Given the description of an element on the screen output the (x, y) to click on. 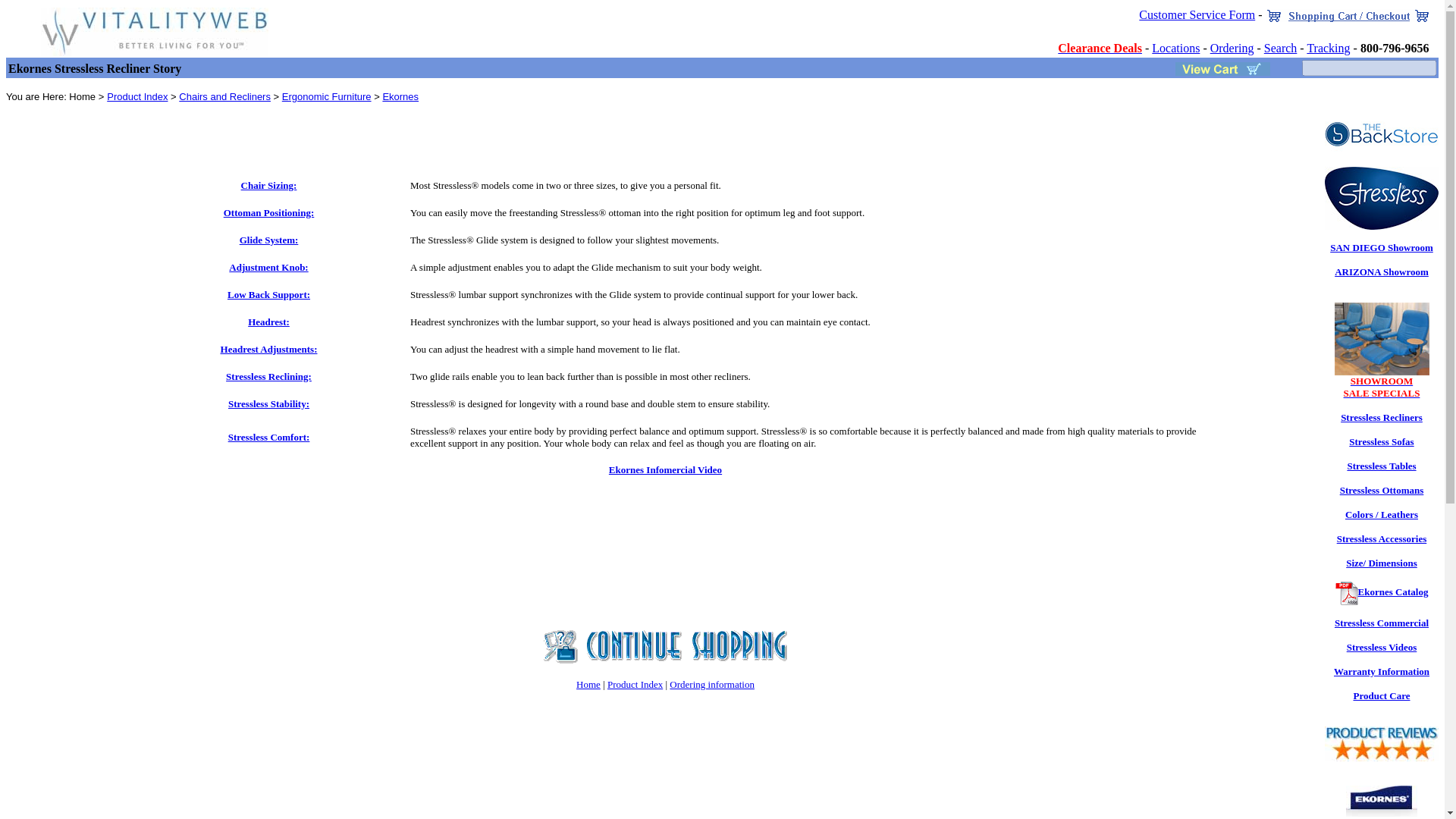
Stressless Tables (1380, 465)
Chair Sizing: (269, 184)
Product Index (136, 96)
Stressless Ottomans (1381, 490)
Stressless Recliners (1381, 417)
Tracking (1327, 47)
Ergonomic Furniture (326, 96)
Stressless Videos (1381, 646)
Chairs and Recliners (1382, 386)
